Given the description of an element on the screen output the (x, y) to click on. 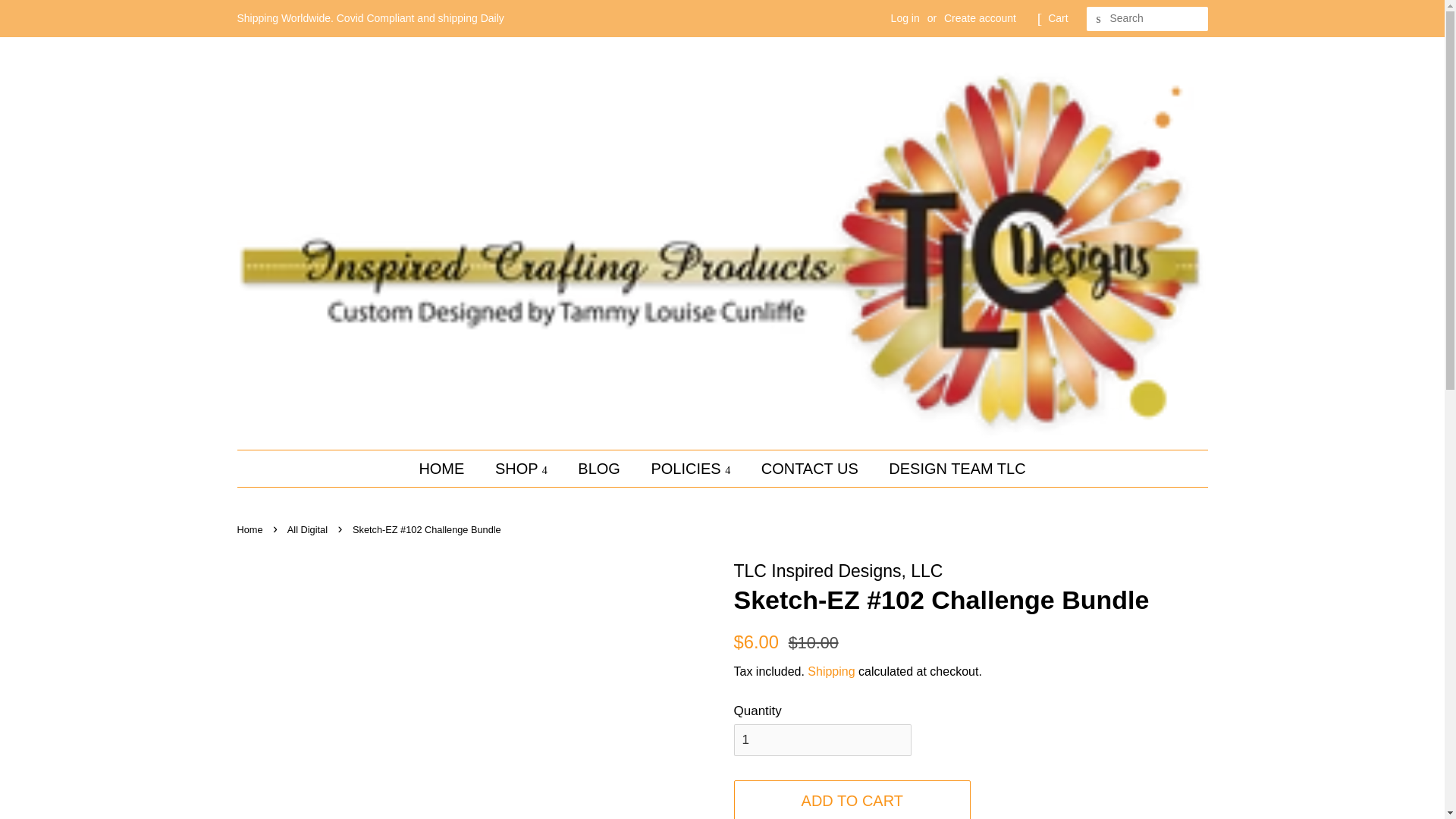
Cart (1057, 18)
1 (822, 739)
Create account (979, 18)
SEARCH (1097, 18)
Log in (905, 18)
Shipping Worldwide. Covid Compliant and shipping Daily (369, 18)
Back to the frontpage (250, 529)
